Given the description of an element on the screen output the (x, y) to click on. 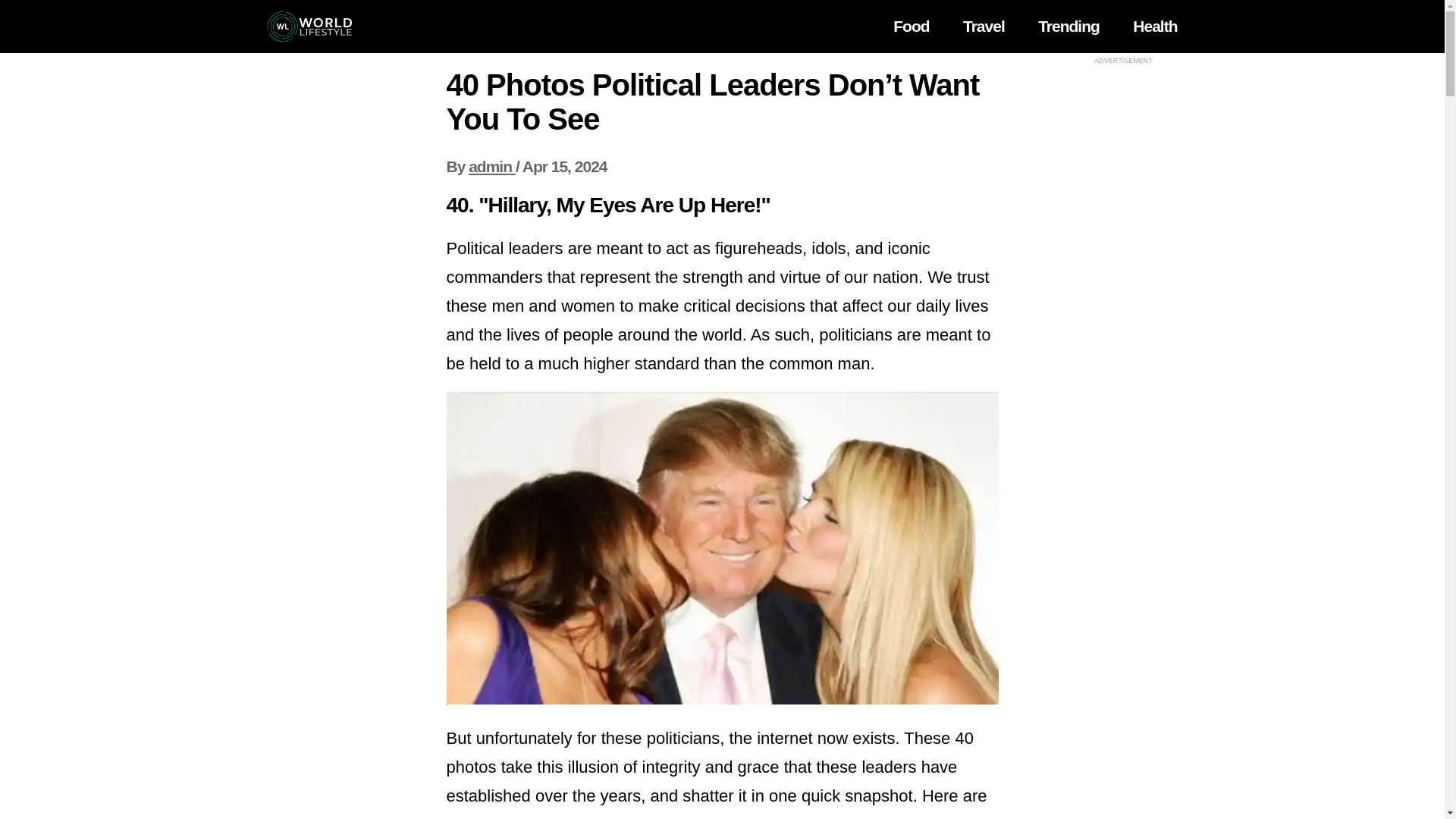
Food (910, 26)
admin (491, 166)
Trending (1068, 26)
Travel (983, 26)
Health (1154, 26)
